Given the description of an element on the screen output the (x, y) to click on. 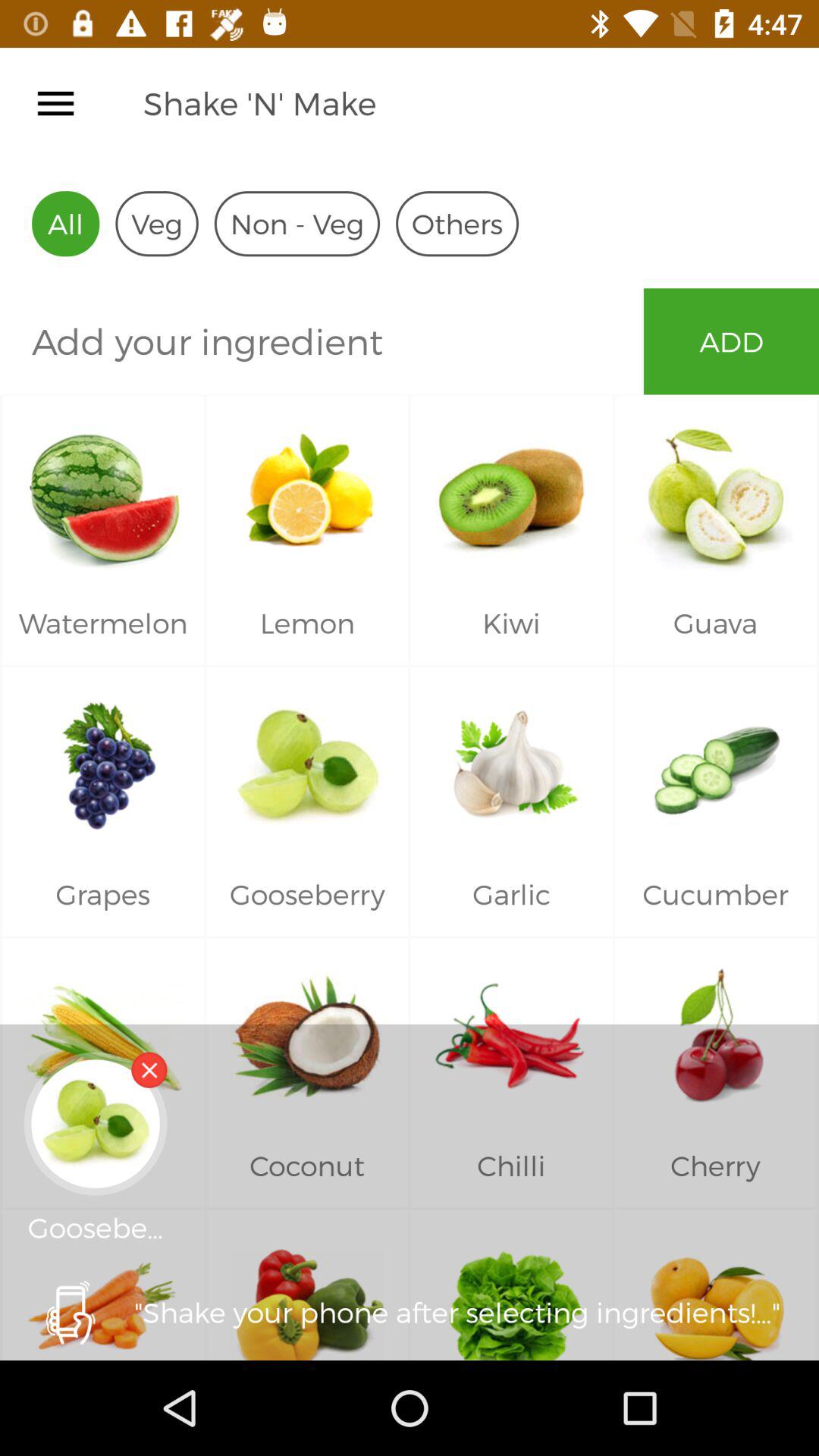
add ingredients (321, 341)
